Given the description of an element on the screen output the (x, y) to click on. 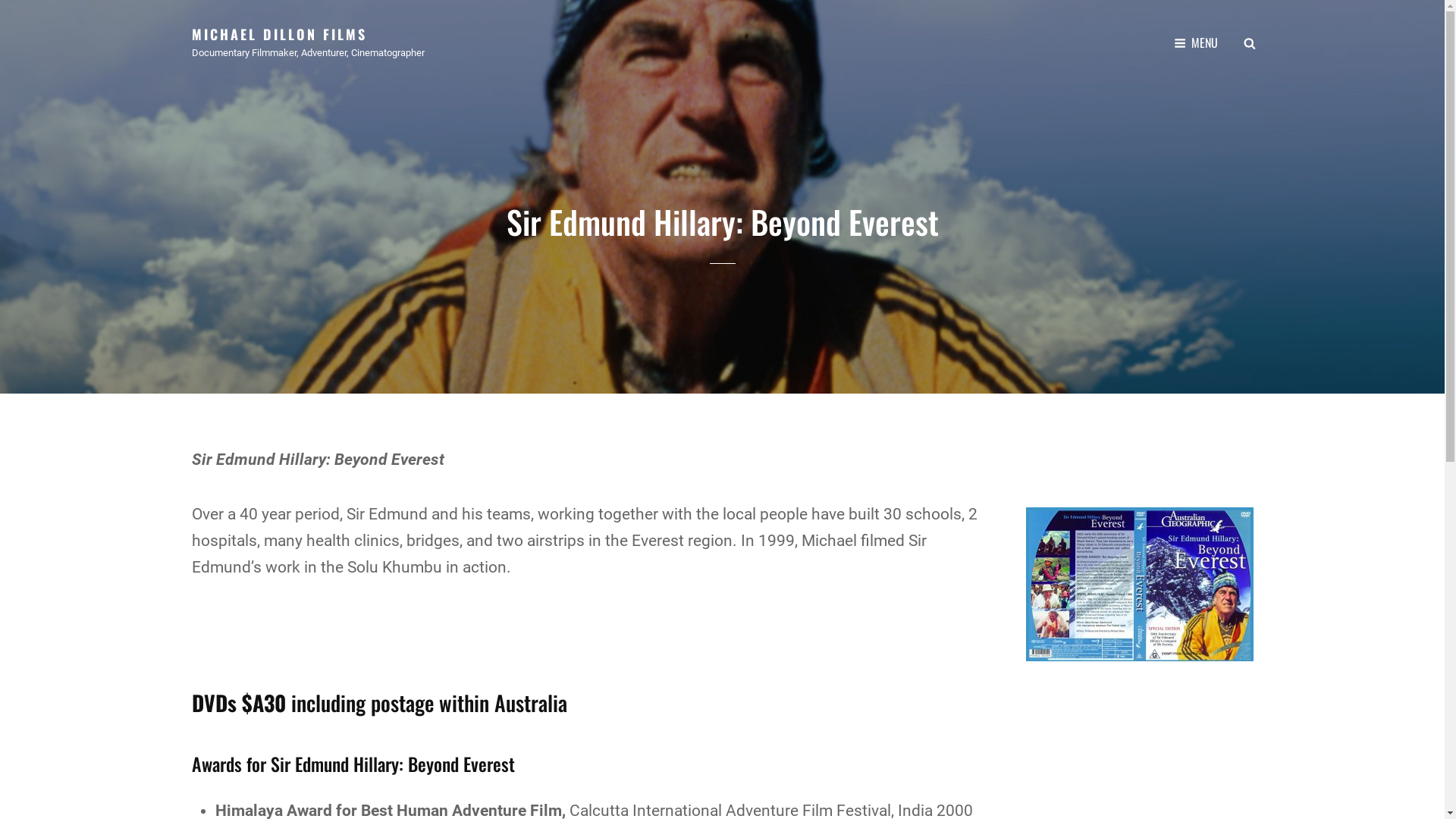
DVDs $A30 including postage within Australia Element type: text (378, 702)
MENU Element type: text (1195, 42)
MICHAEL DILLON FILMS Element type: text (278, 33)
SEARCH Element type: text (1249, 42)
